Given the description of an element on the screen output the (x, y) to click on. 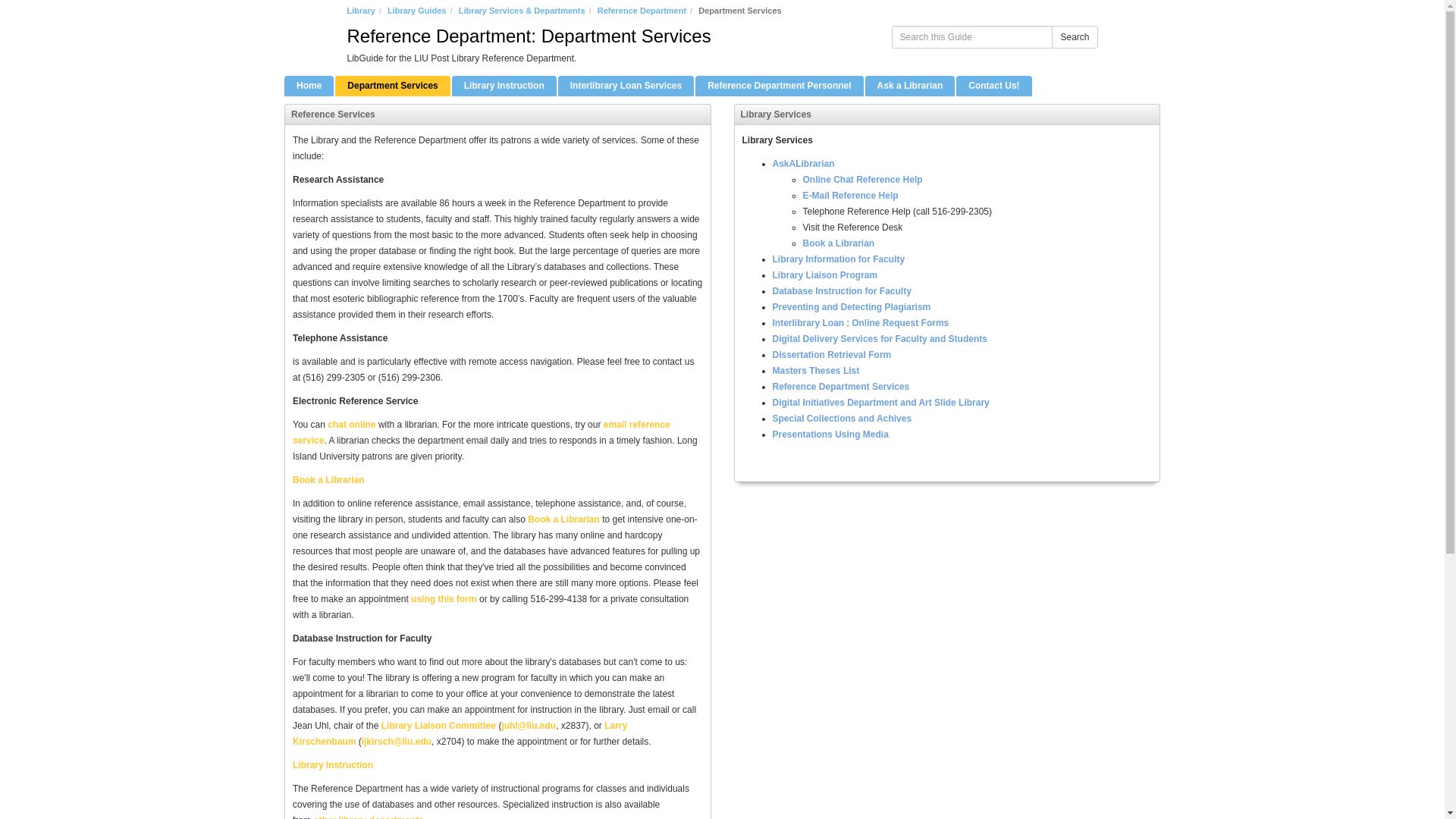
Library Guides (416, 10)
Book a Librarian (838, 243)
Library Information for Faculty (837, 258)
Library Liaison Program (824, 275)
Book a Librarian (328, 480)
email reference service (480, 432)
Digital Delivery Services for Faculty and Students (879, 338)
Contact Us! (993, 86)
AskALibrarian (802, 163)
Interlibrary Loan (807, 322)
Ask a Librarian (909, 86)
Dissertation Retrieval Form (831, 354)
Reference Department Personnel (779, 86)
Library (361, 10)
Larry Kirschenbaum (459, 733)
